Given the description of an element on the screen output the (x, y) to click on. 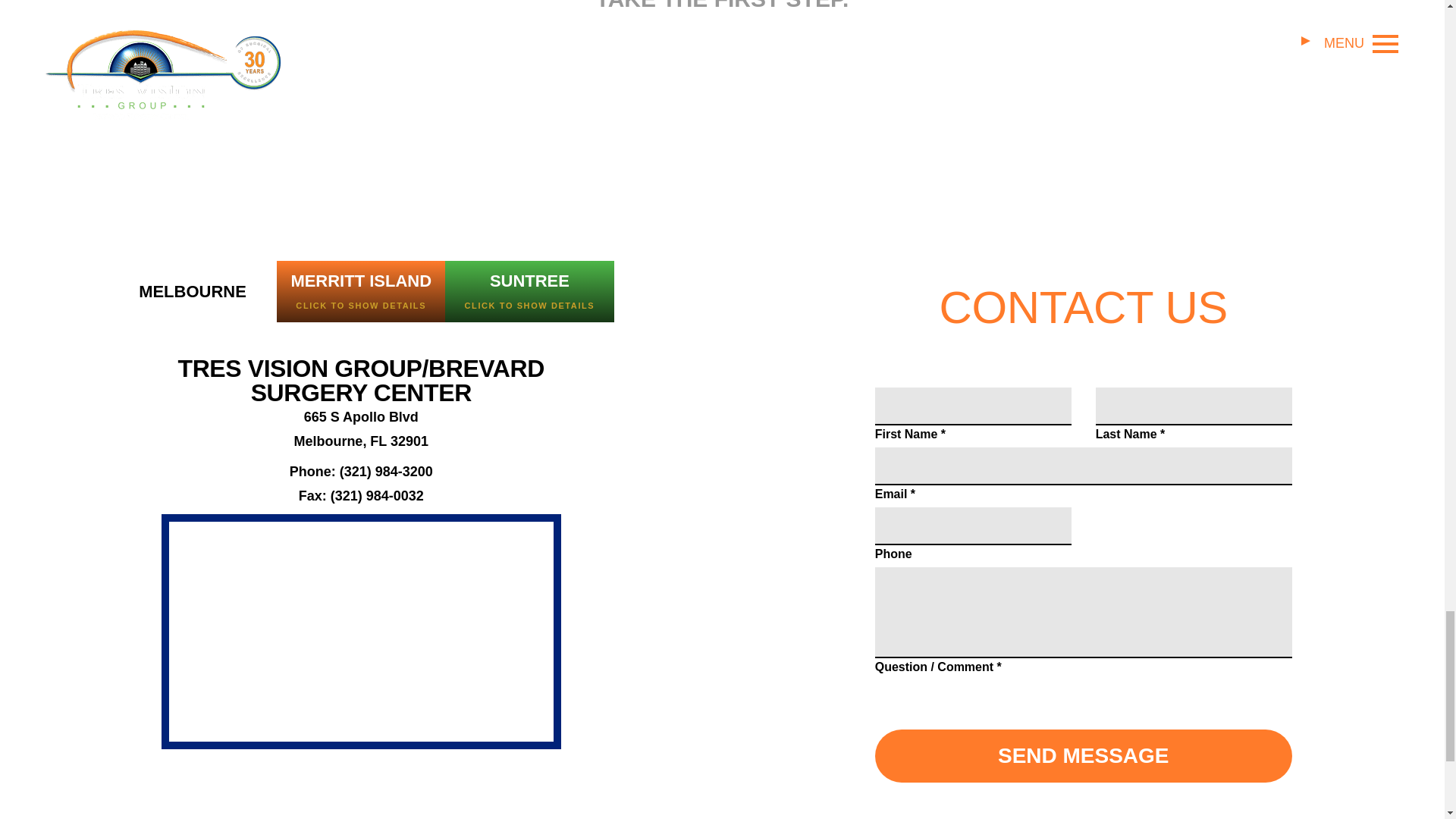
Send Message (1083, 755)
